Given the description of an element on the screen output the (x, y) to click on. 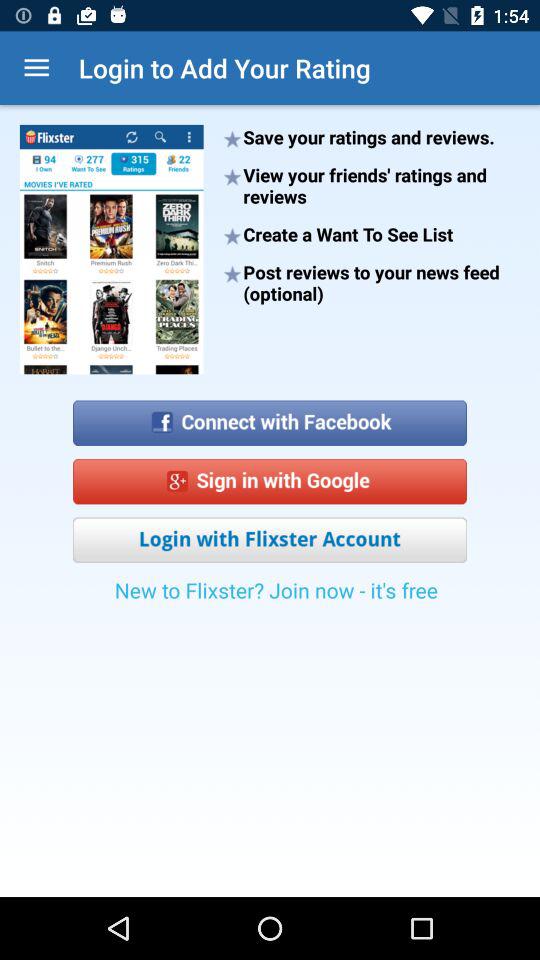
jump to the new to flixster icon (276, 596)
